Given the description of an element on the screen output the (x, y) to click on. 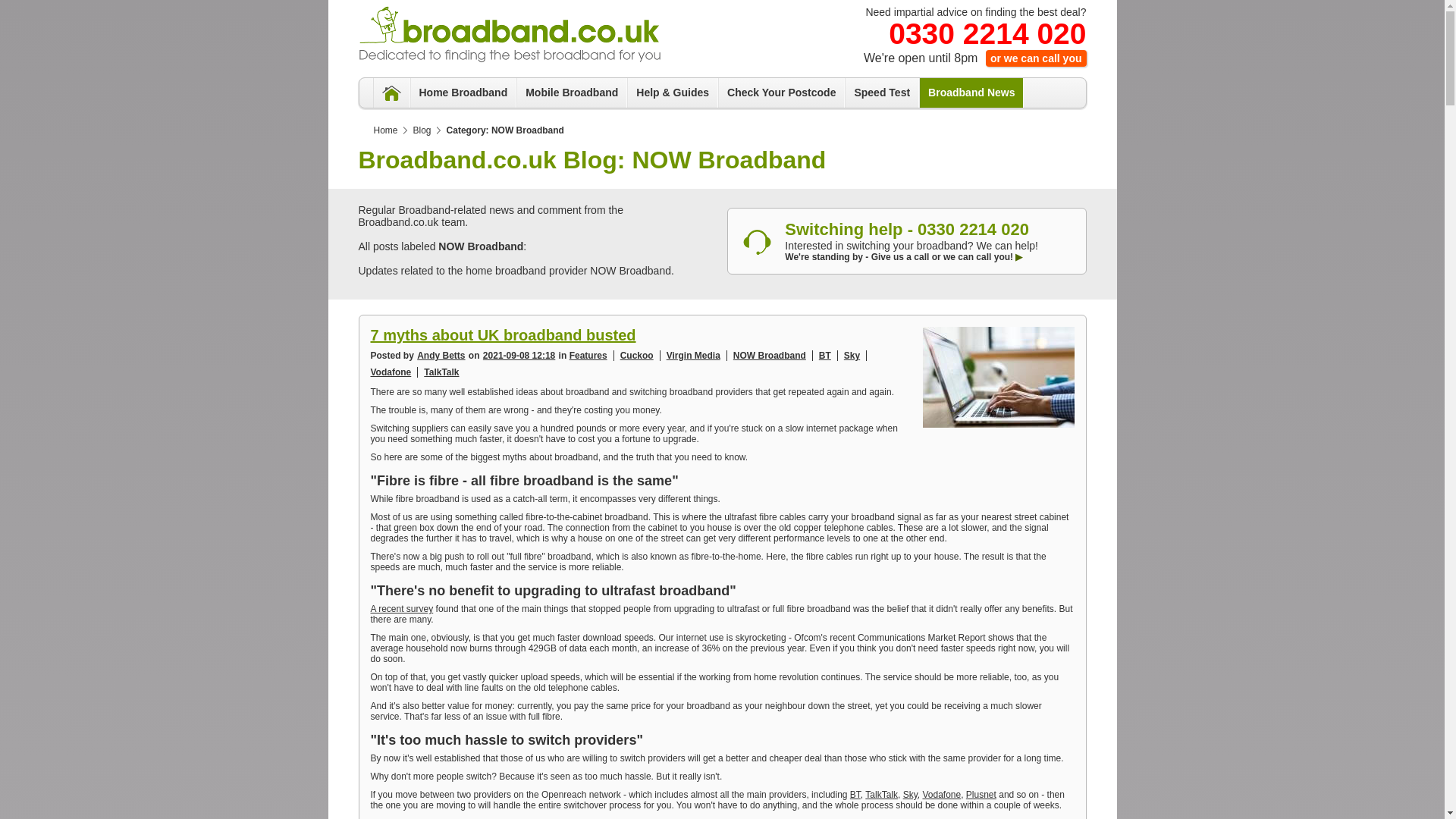
Mobile Broadband (571, 91)
Home Broadband (463, 91)
0330 2214 020 (987, 33)
or we can call you (1035, 57)
